Given the description of an element on the screen output the (x, y) to click on. 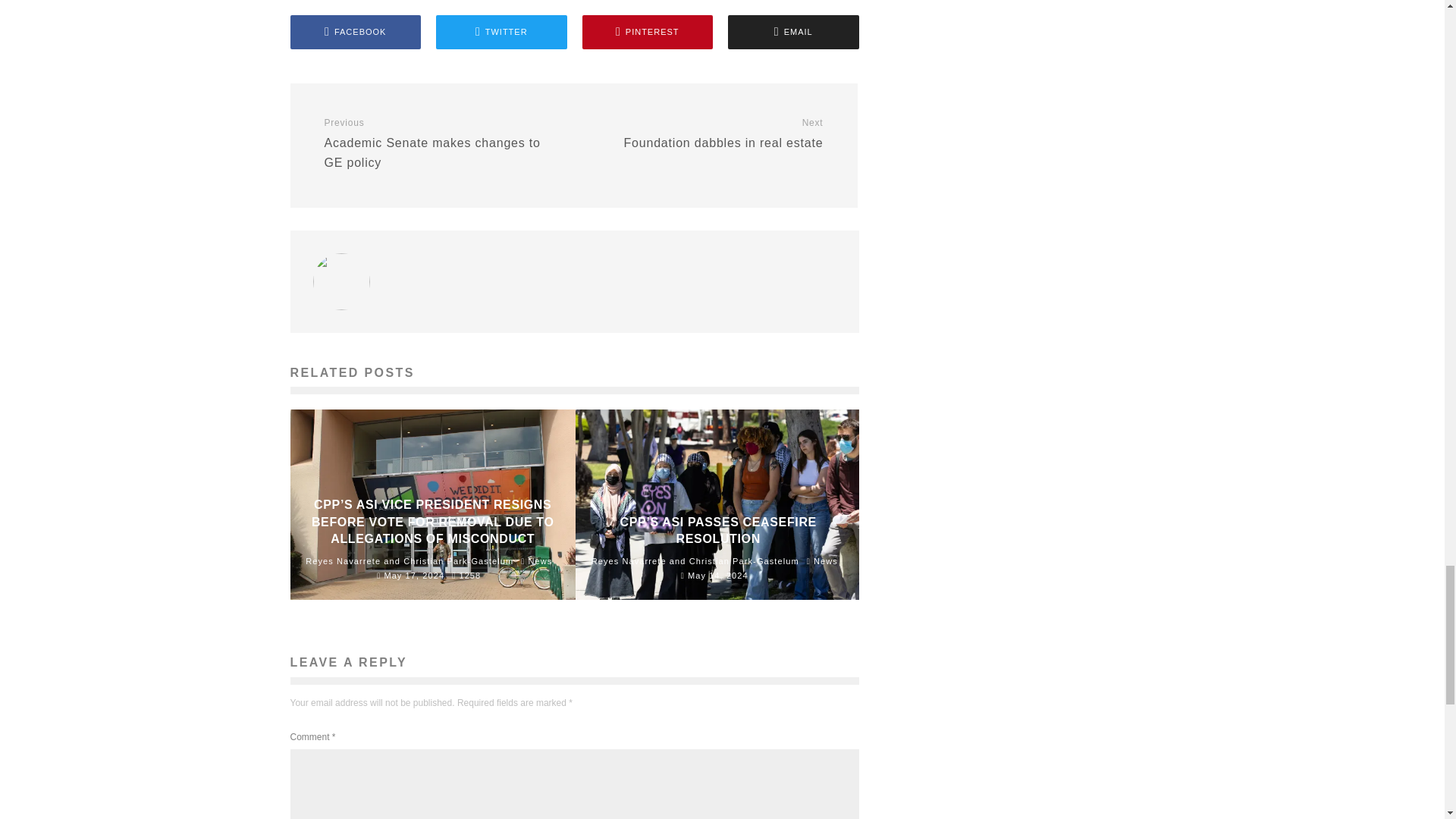
Posts by Christian Park-Gastelum (743, 560)
Posts by Christian Park-Gastelum (458, 560)
Posts by Reyes Navarrete (342, 560)
Posts by Reyes Navarrete (628, 560)
